Given the description of an element on the screen output the (x, y) to click on. 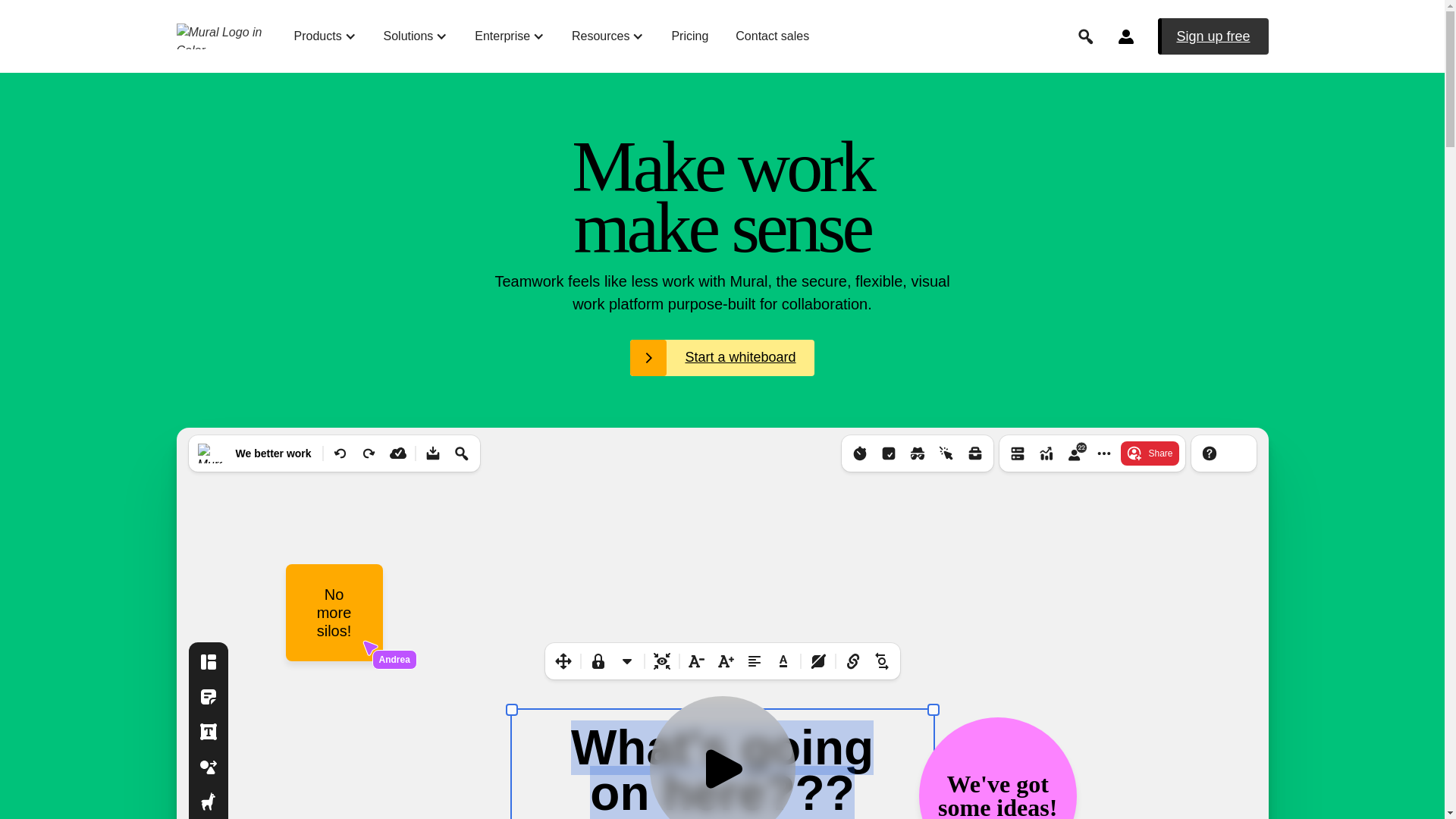
Pricing (689, 36)
Start a whiteboard (721, 357)
Contact sales (772, 36)
Sign up free (1212, 36)
